Given the description of an element on the screen output the (x, y) to click on. 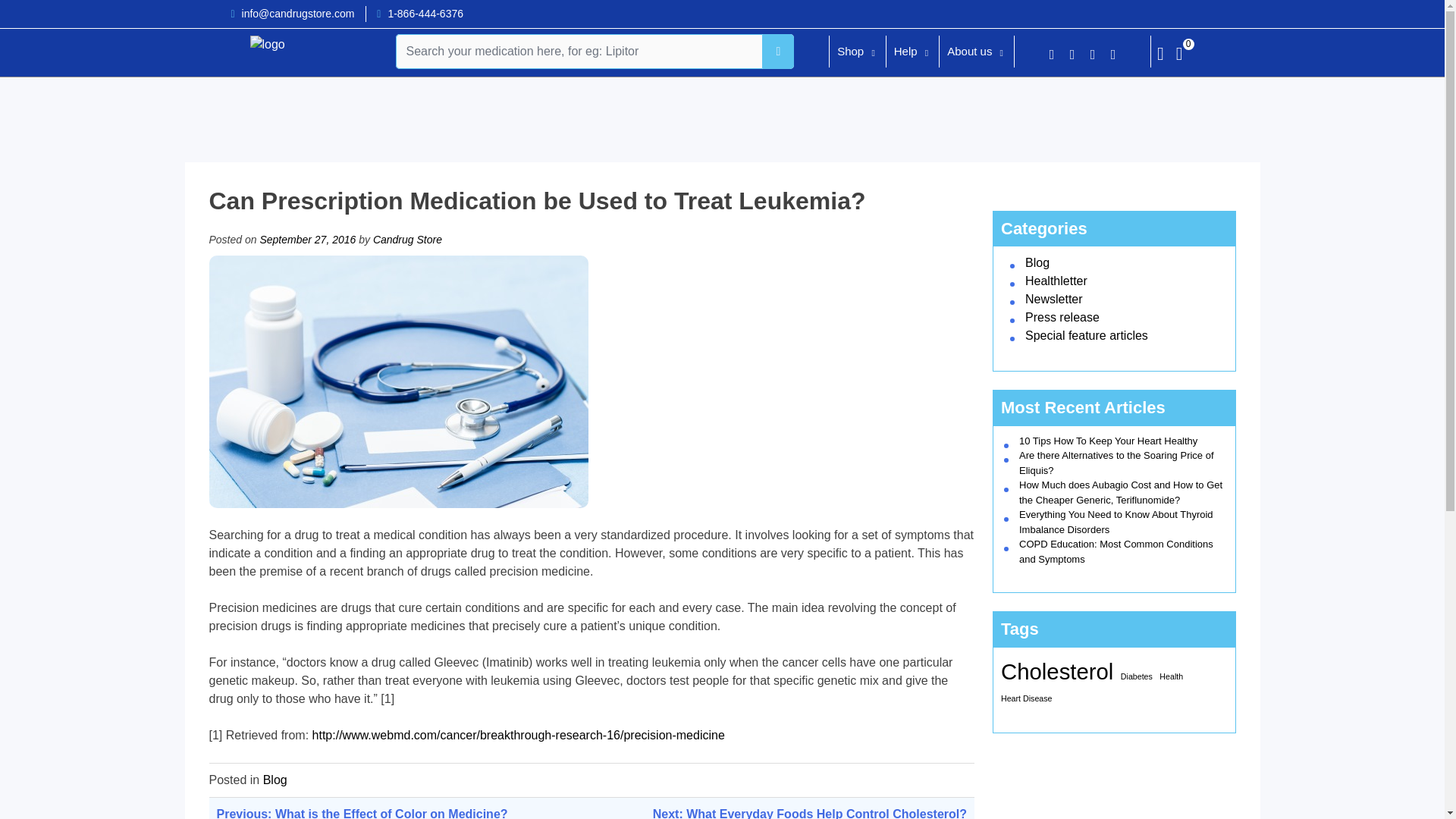
Shop (850, 52)
1-866-444-6376 (425, 13)
Help (905, 52)
